Given the description of an element on the screen output the (x, y) to click on. 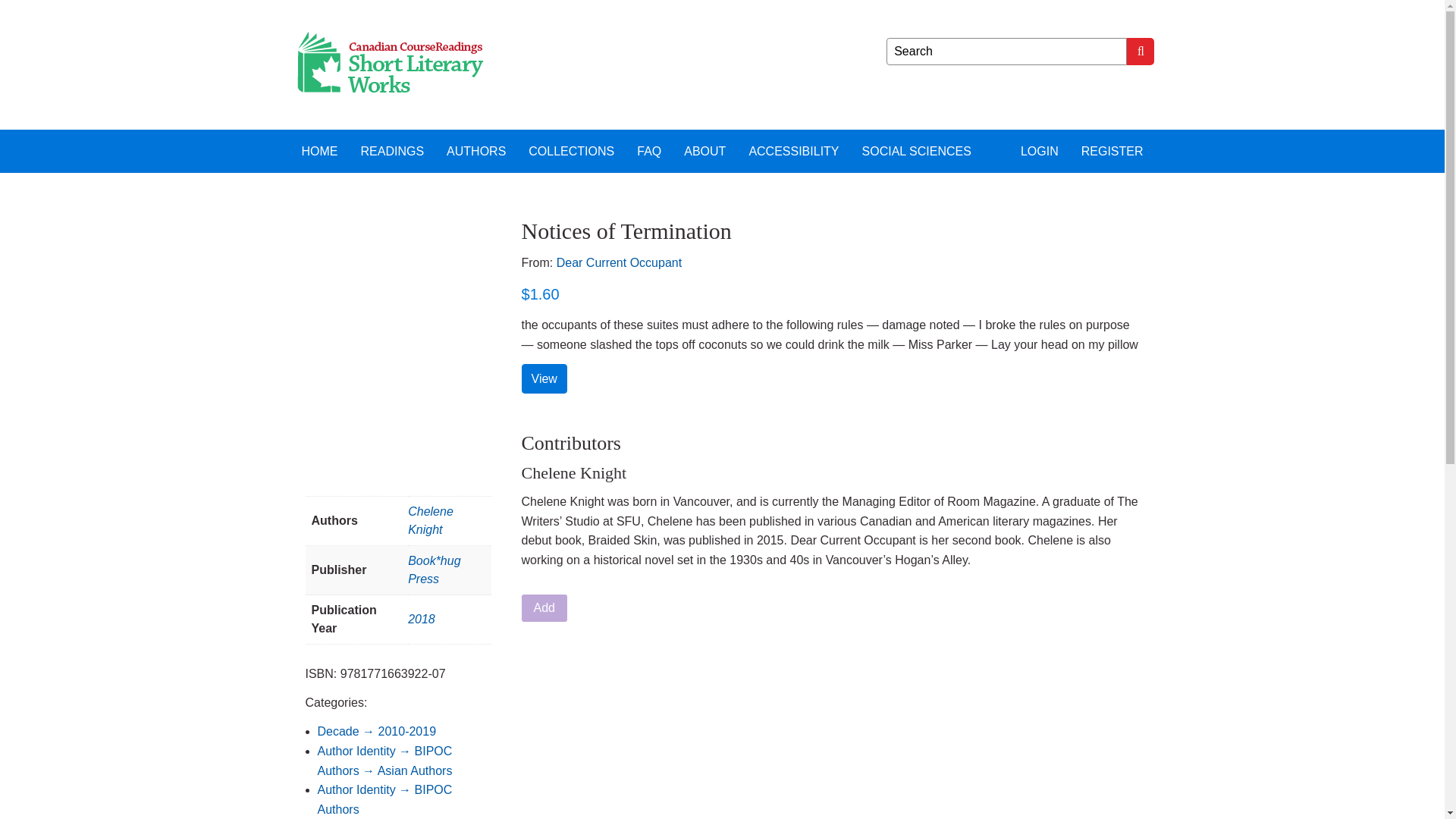
Dear Current Occupant (618, 262)
ABOUT (704, 150)
Collections (571, 150)
SOCIAL SCIENCES (916, 150)
LOGIN (1039, 150)
Home (319, 150)
READINGS (392, 150)
AUTHORS (475, 150)
COLLECTIONS (571, 150)
REGISTER (1112, 150)
